Given the description of an element on the screen output the (x, y) to click on. 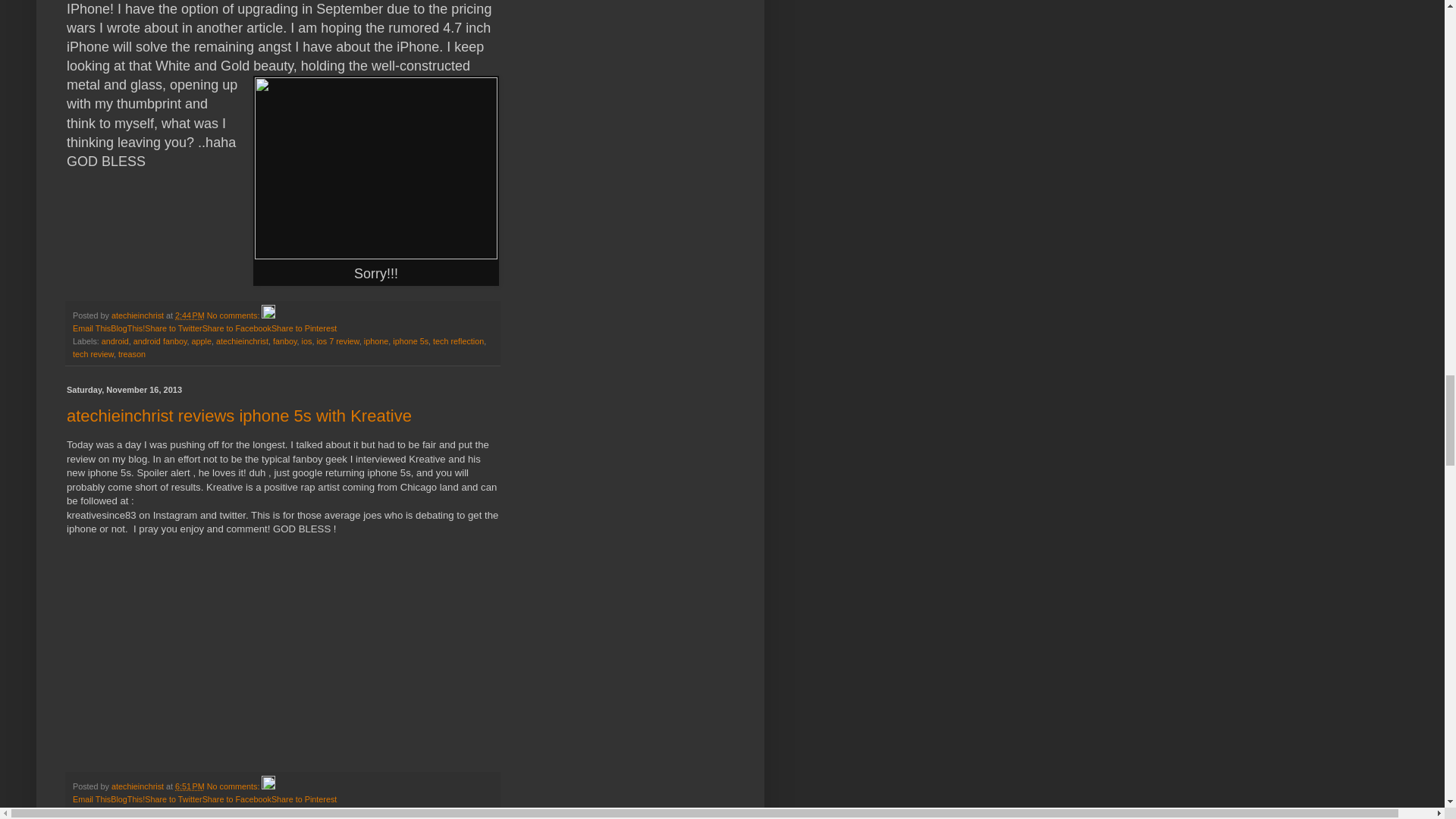
Share to Twitter (173, 798)
BlogThis! (127, 327)
atechieinchrist (138, 315)
iphone (376, 340)
Share to Twitter (173, 327)
permanent link (189, 786)
BlogThis! (127, 798)
android fanboy (160, 340)
android (115, 340)
Share to Pinterest (303, 327)
No comments: (234, 315)
Share to Facebook (236, 327)
Email This (91, 327)
Email This (91, 327)
